Given the description of an element on the screen output the (x, y) to click on. 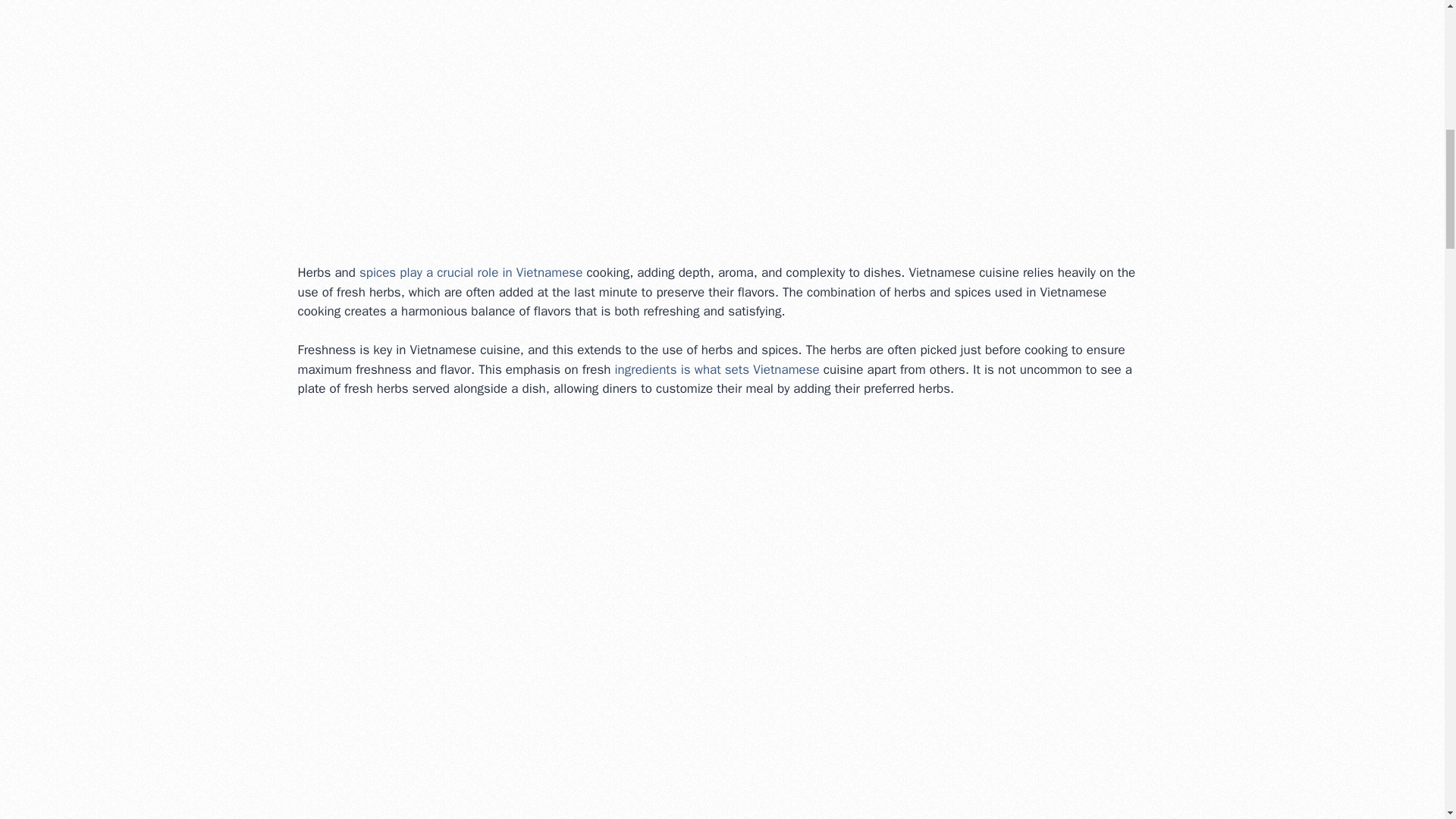
Scroll back to top (1406, 720)
ingredients is what sets Vietnamese (716, 369)
spices play a crucial role in Vietnamese (470, 272)
